Given the description of an element on the screen output the (x, y) to click on. 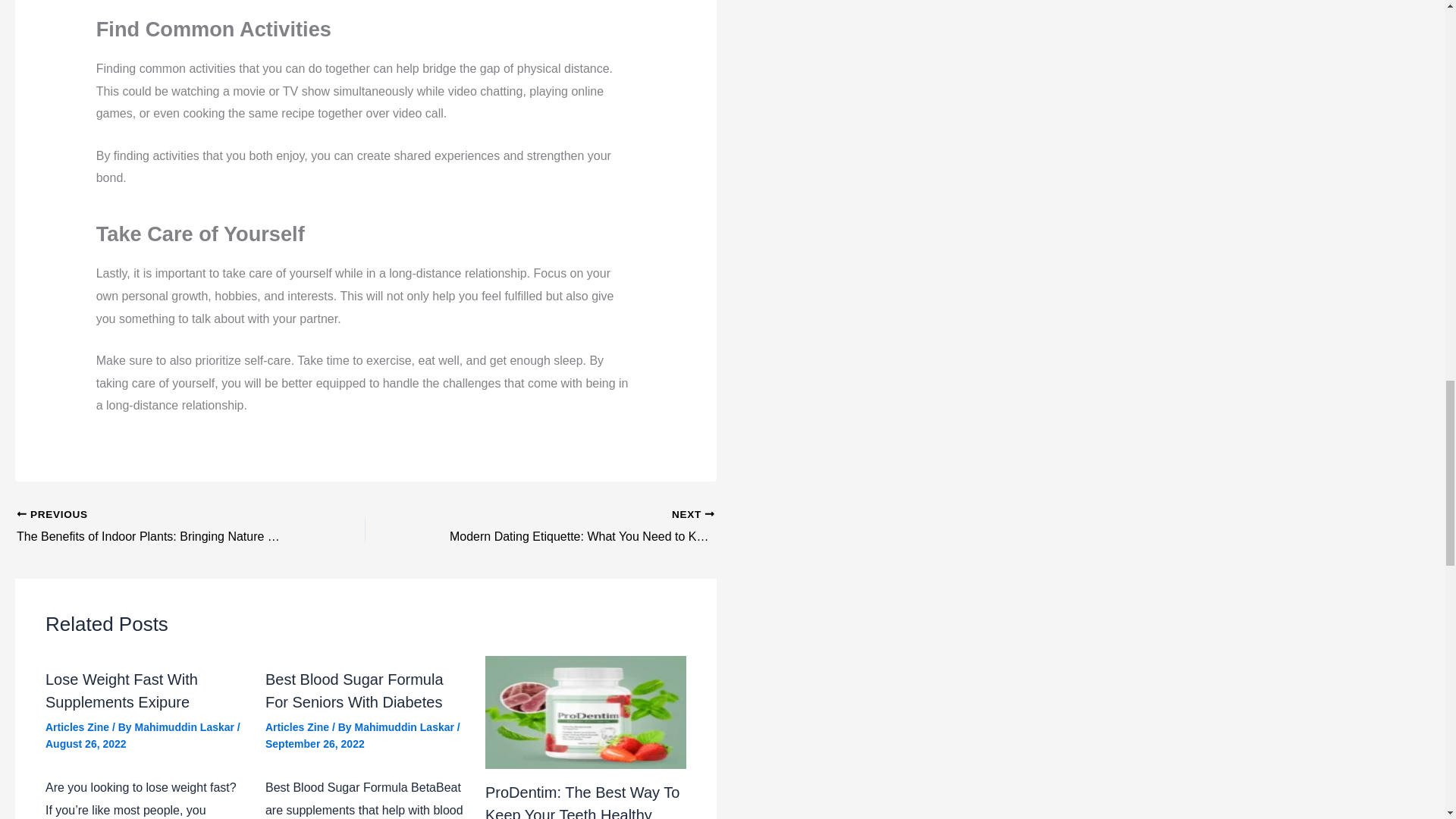
Modern Dating Etiquette: What You Need to Know (573, 526)
Best Blood Sugar Formula For Seniors With Diabetes (354, 690)
View all posts by Mahimuddin Laskar (573, 526)
View all posts by Mahimuddin Laskar (405, 727)
Lose Weight Fast With Supplements Exipure (186, 727)
Articles Zine (121, 690)
Mahimuddin Laskar (296, 727)
Articles Zine (186, 727)
